Given the description of an element on the screen output the (x, y) to click on. 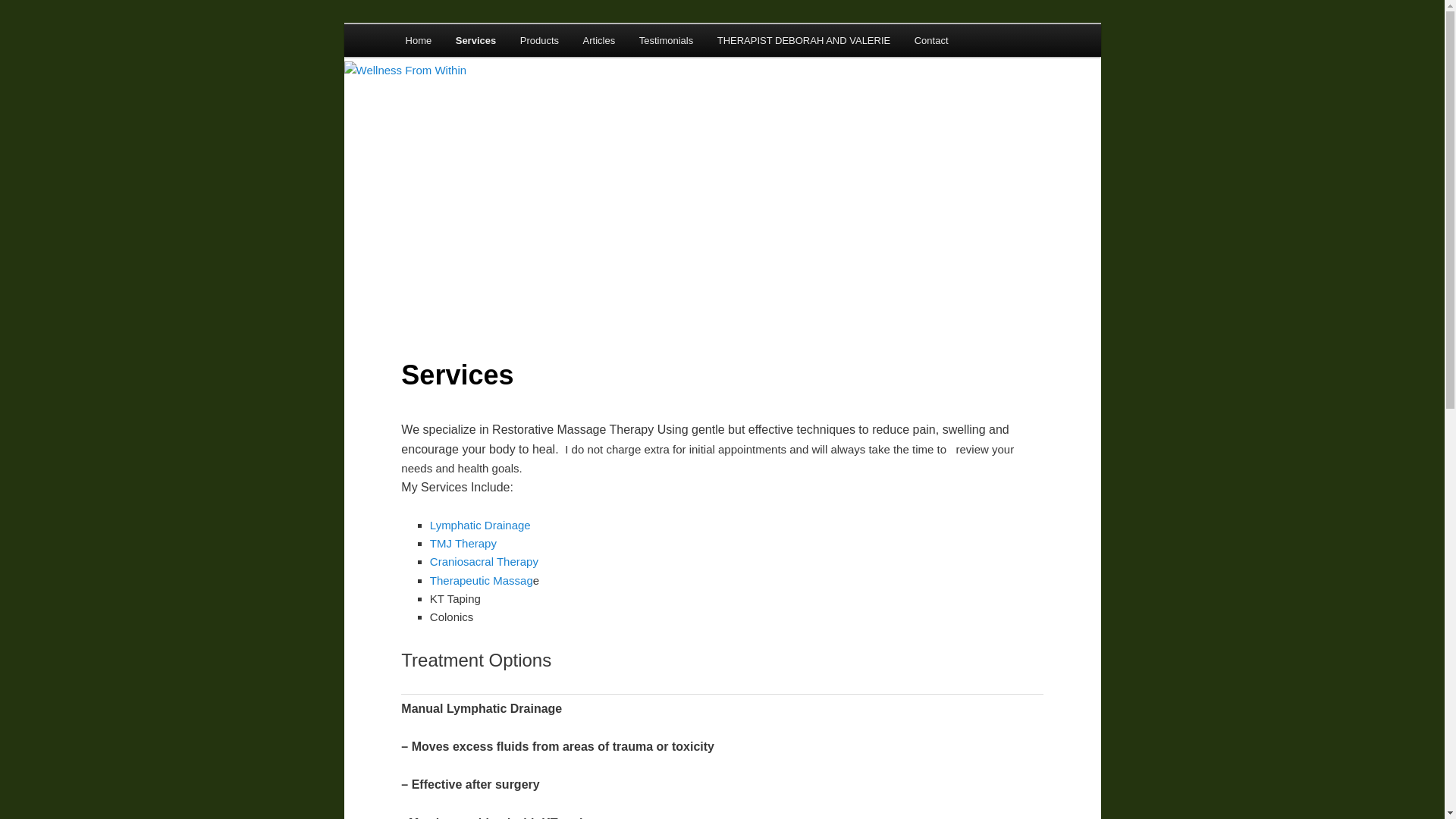
THERAPIST DEBORAH AND VALERIE (803, 40)
Articles (598, 40)
Therapeutic Massag (480, 580)
Lymphatic Drainage (480, 524)
Home (418, 40)
Services (476, 40)
Testimonials (665, 40)
TMJ Therapy (462, 543)
Products (539, 40)
